Given the description of an element on the screen output the (x, y) to click on. 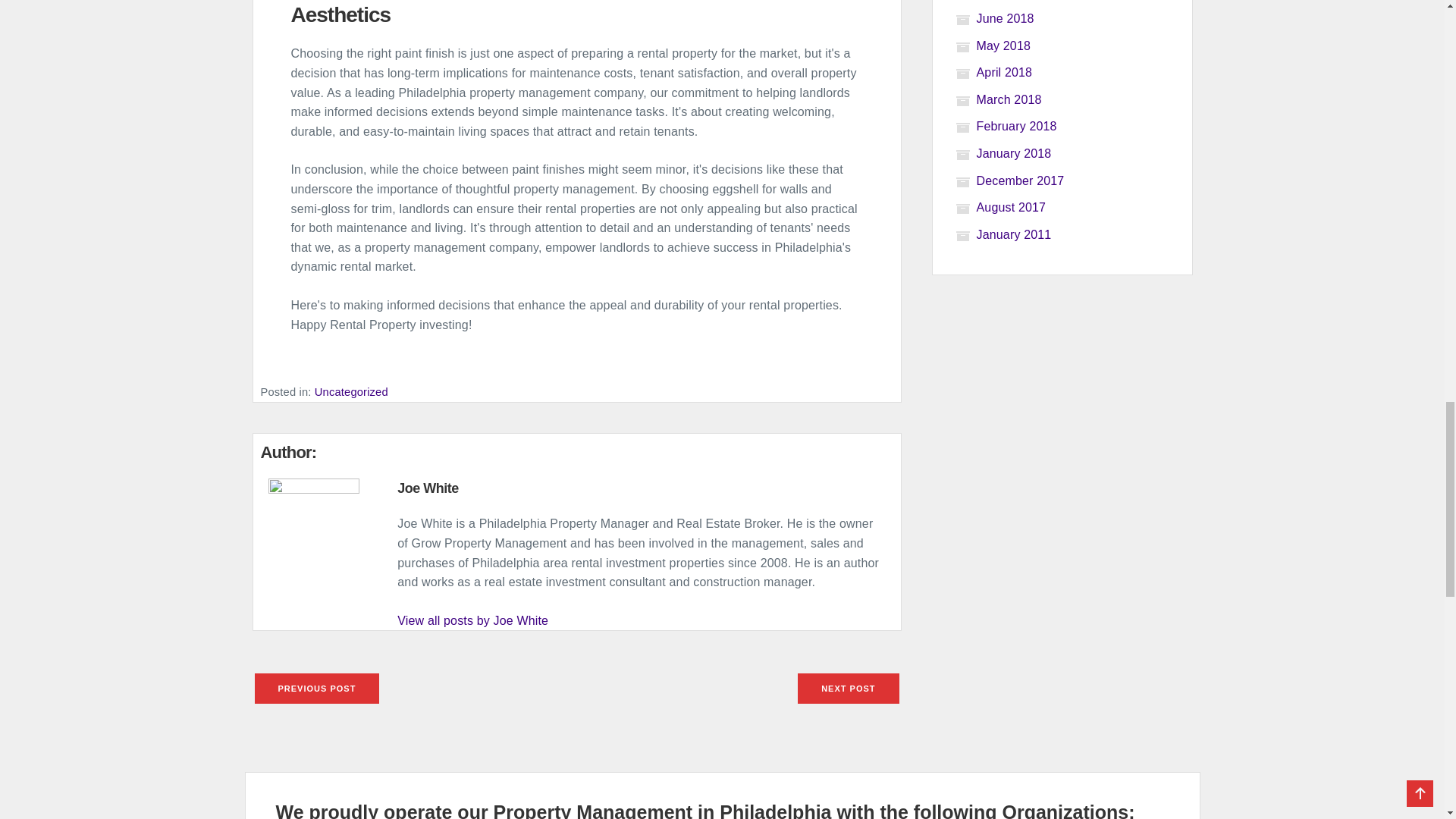
View all posts by Joe White (472, 620)
NEXT POST (847, 686)
Uncategorized (351, 391)
PREVIOUS POST (317, 686)
